Given the description of an element on the screen output the (x, y) to click on. 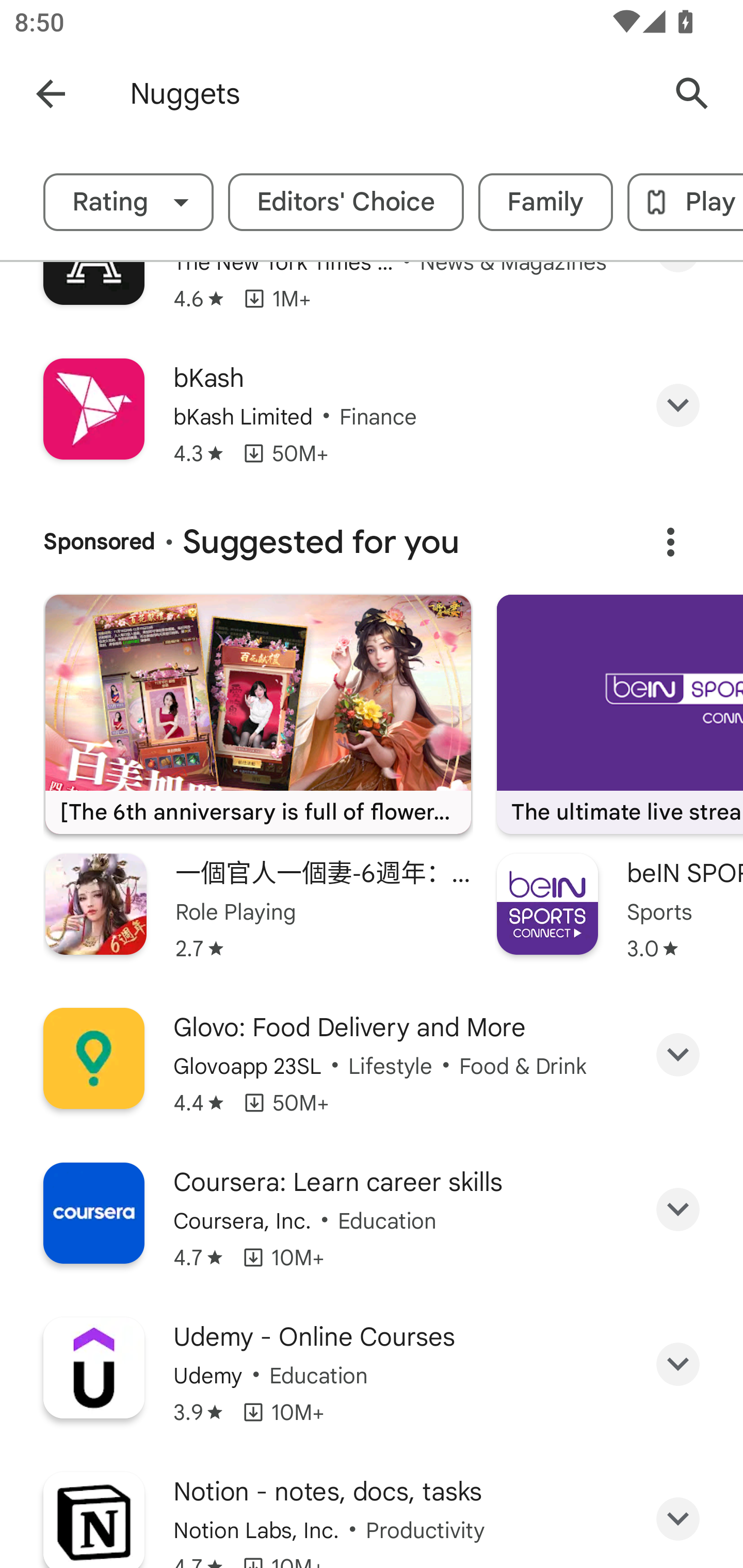
Nuggets (389, 93)
Navigate up (50, 93)
Search Google Play (692, 93)
Rating - double tap to change the filter (128, 202)
Editors' Choice - double tap to toggle the filter (345, 202)
Family - double tap to toggle the filter (545, 202)
Play Pass - double tap to toggle the filter (685, 202)
Expand content for bKash (677, 405)
About this ad (670, 541)
Expand content for Glovo: Food Delivery and More (677, 1054)
Expand content for Coursera: Learn career skills (677, 1209)
Expand content for Udemy - Online Courses (677, 1364)
Expand content for Notion - notes, docs, tasks (677, 1518)
